Given the description of an element on the screen output the (x, y) to click on. 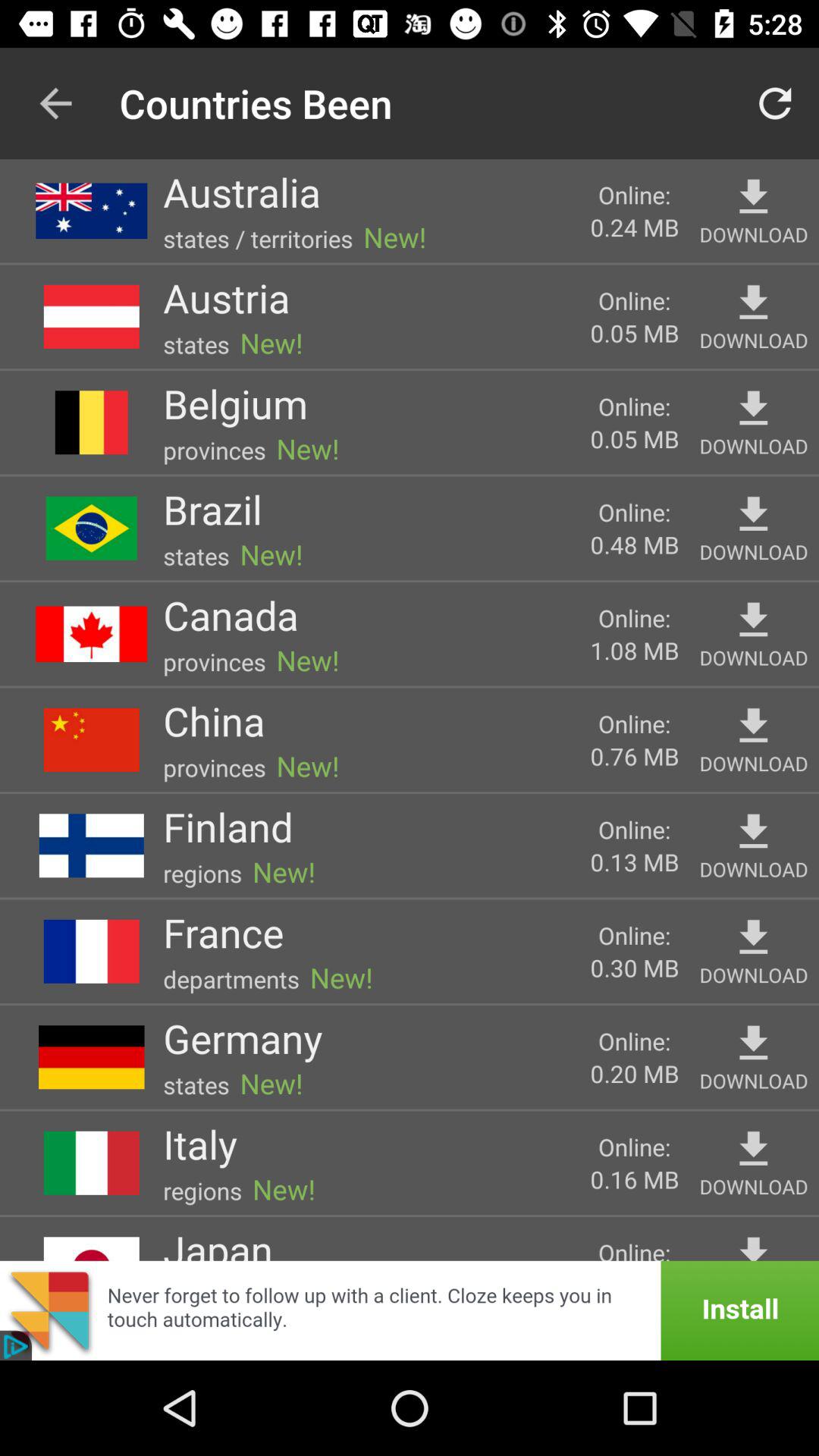
choose states / territories icon (258, 238)
